Given the description of an element on the screen output the (x, y) to click on. 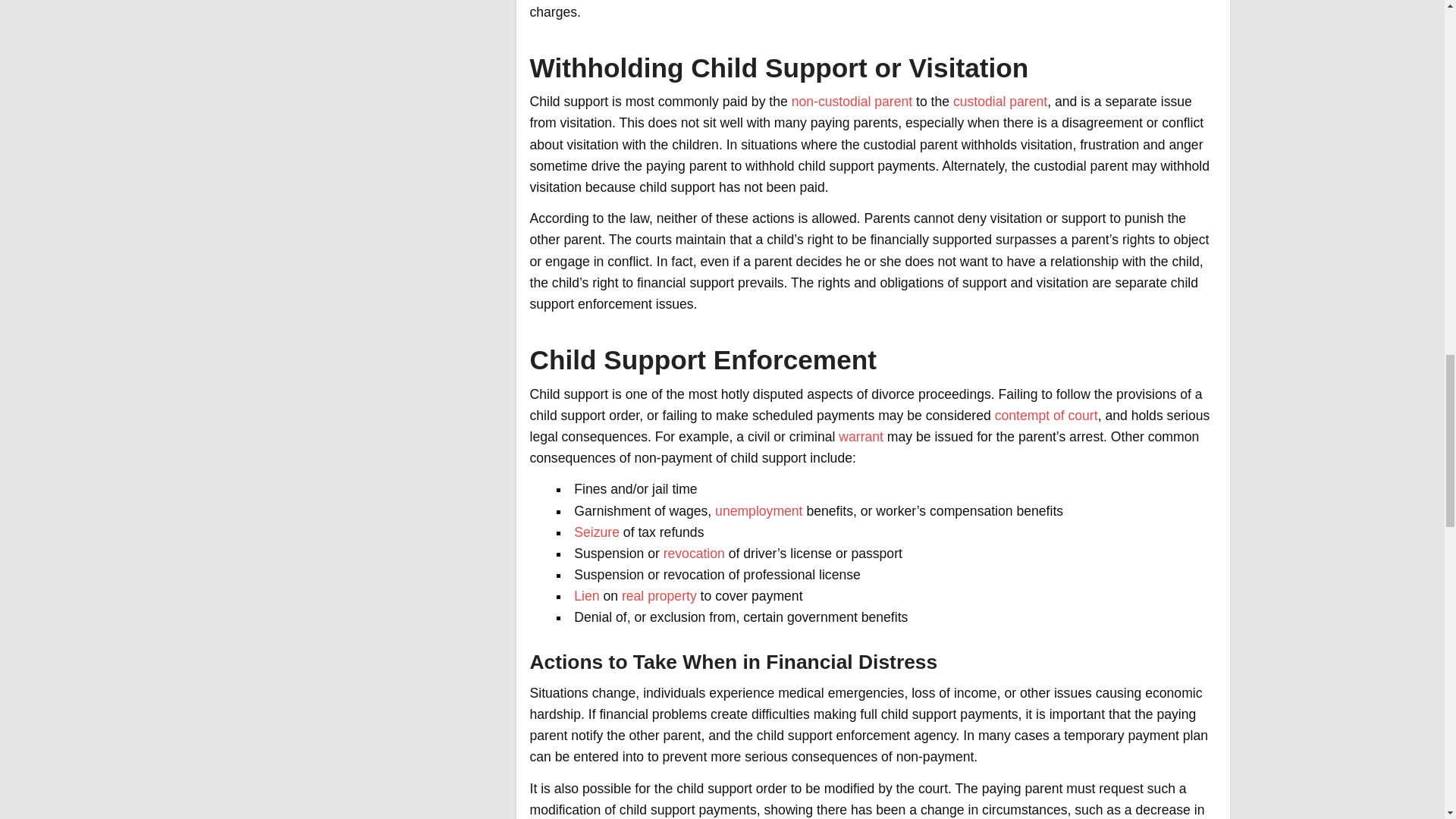
custodial parent (999, 101)
contempt of court (1045, 415)
non-custodial parent (852, 101)
warrant (860, 436)
